Given the description of an element on the screen output the (x, y) to click on. 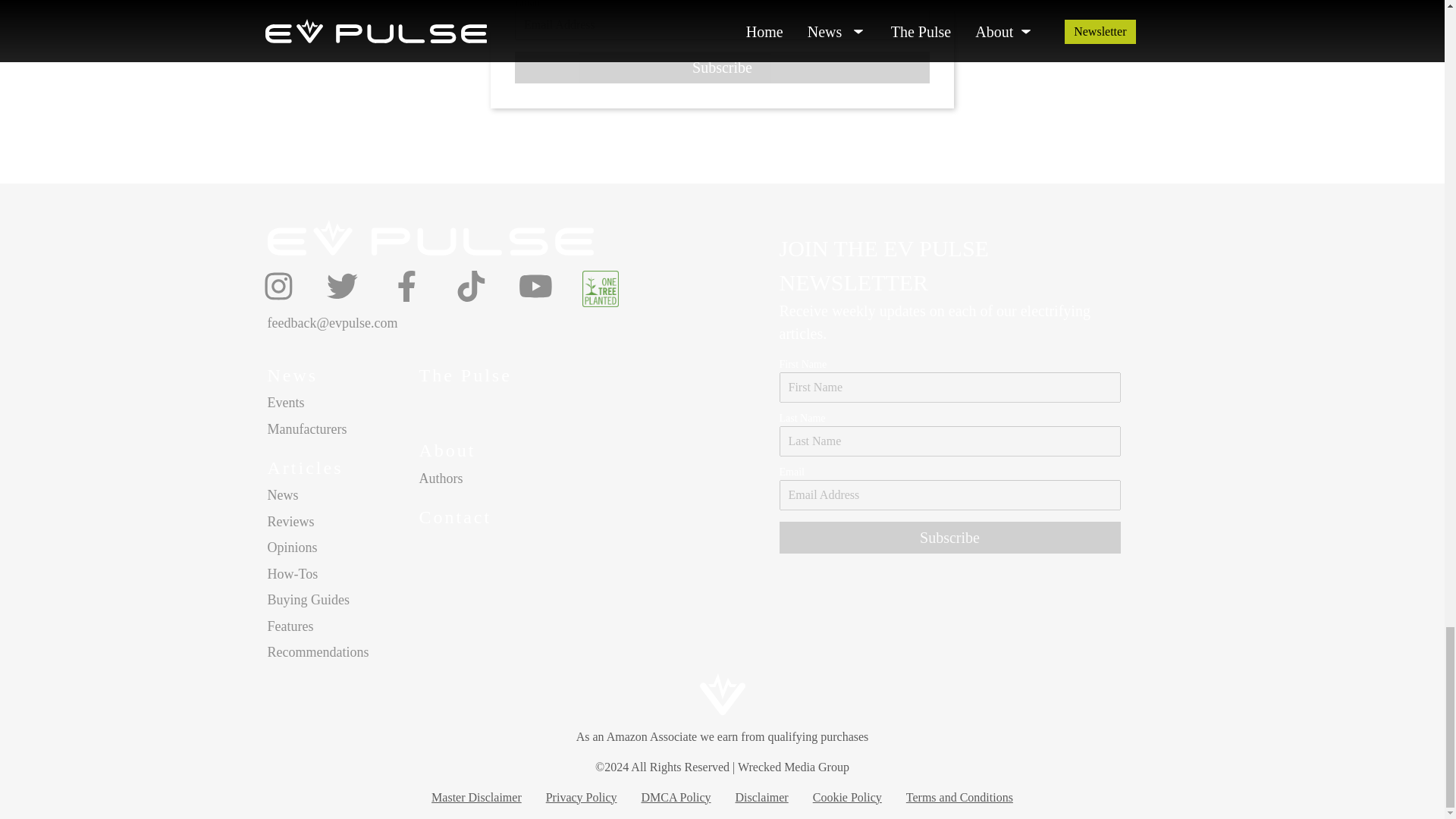
Subscribe (722, 67)
Subscribe (949, 537)
Subscribe (722, 67)
